Given the description of an element on the screen output the (x, y) to click on. 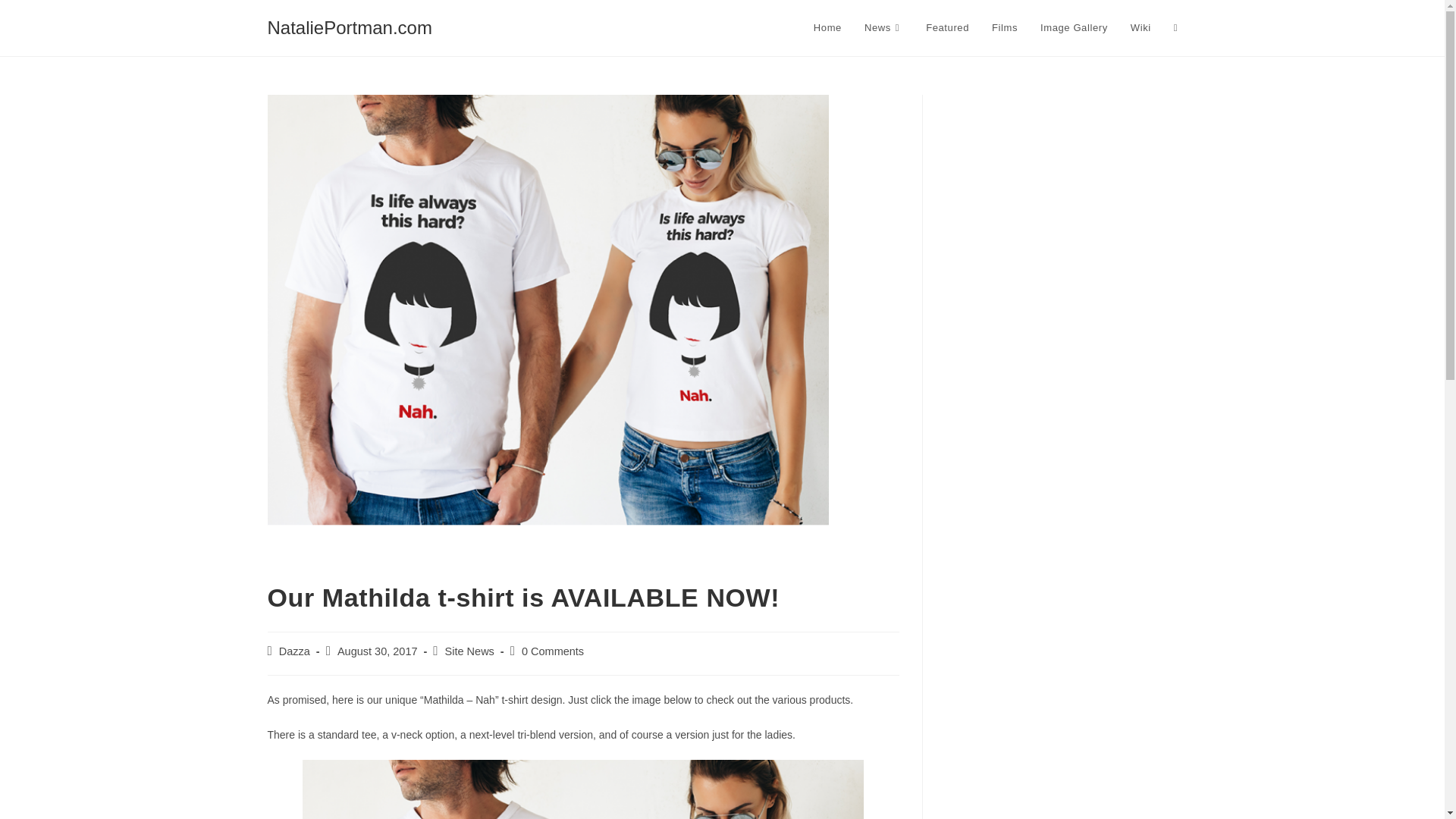
Home (827, 28)
0 Comments (552, 651)
Dazza (294, 651)
Image Gallery (1074, 28)
Site News (470, 651)
Featured (946, 28)
NataliePortman.com (348, 27)
News (883, 28)
Posts by Dazza (294, 651)
